Given the description of an element on the screen output the (x, y) to click on. 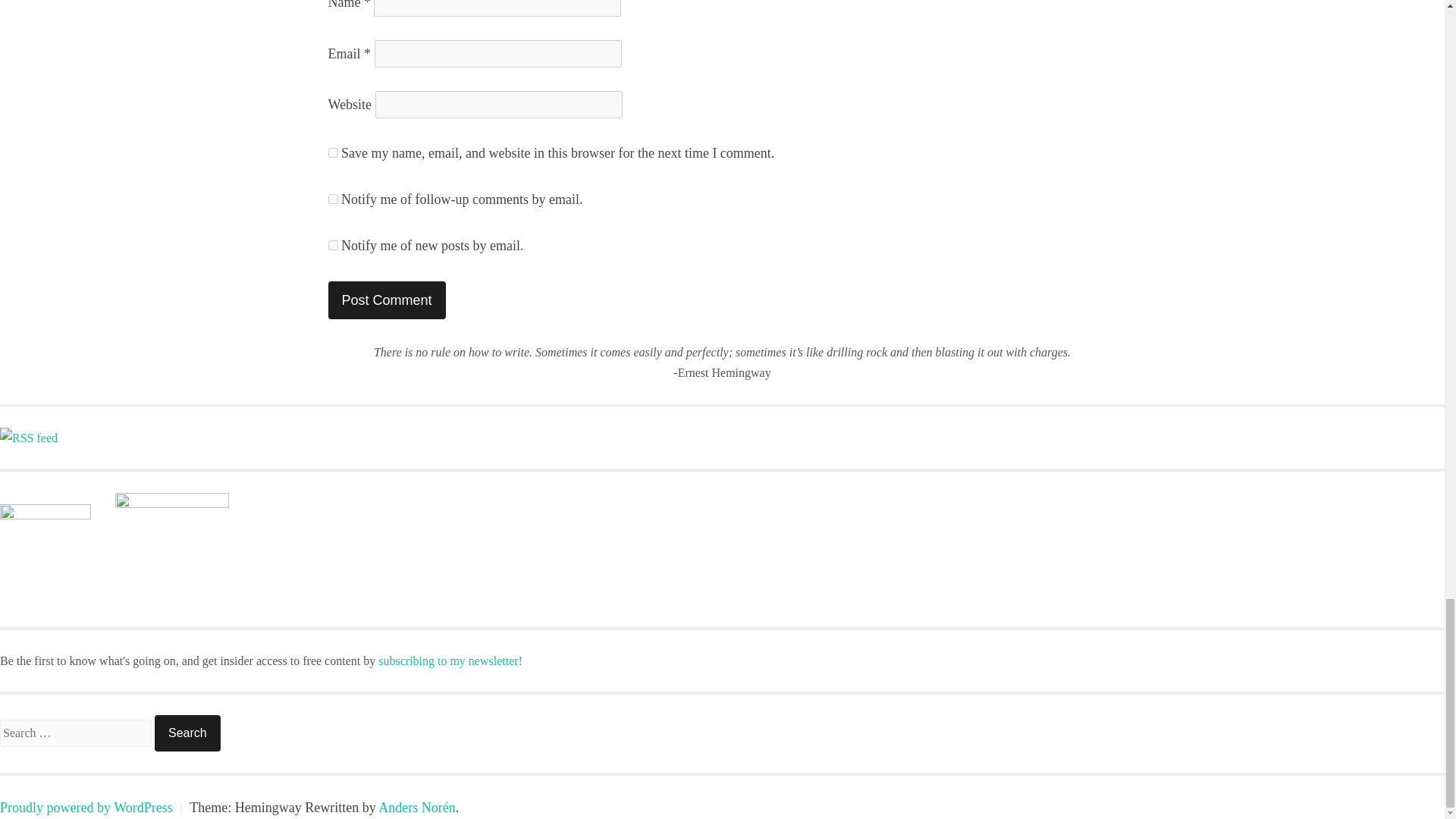
subscribe (332, 198)
subscribe (332, 245)
yes (332, 153)
Search (187, 732)
Post Comment (386, 300)
Subscribe to posts (29, 437)
Search (187, 732)
